Given the description of an element on the screen output the (x, y) to click on. 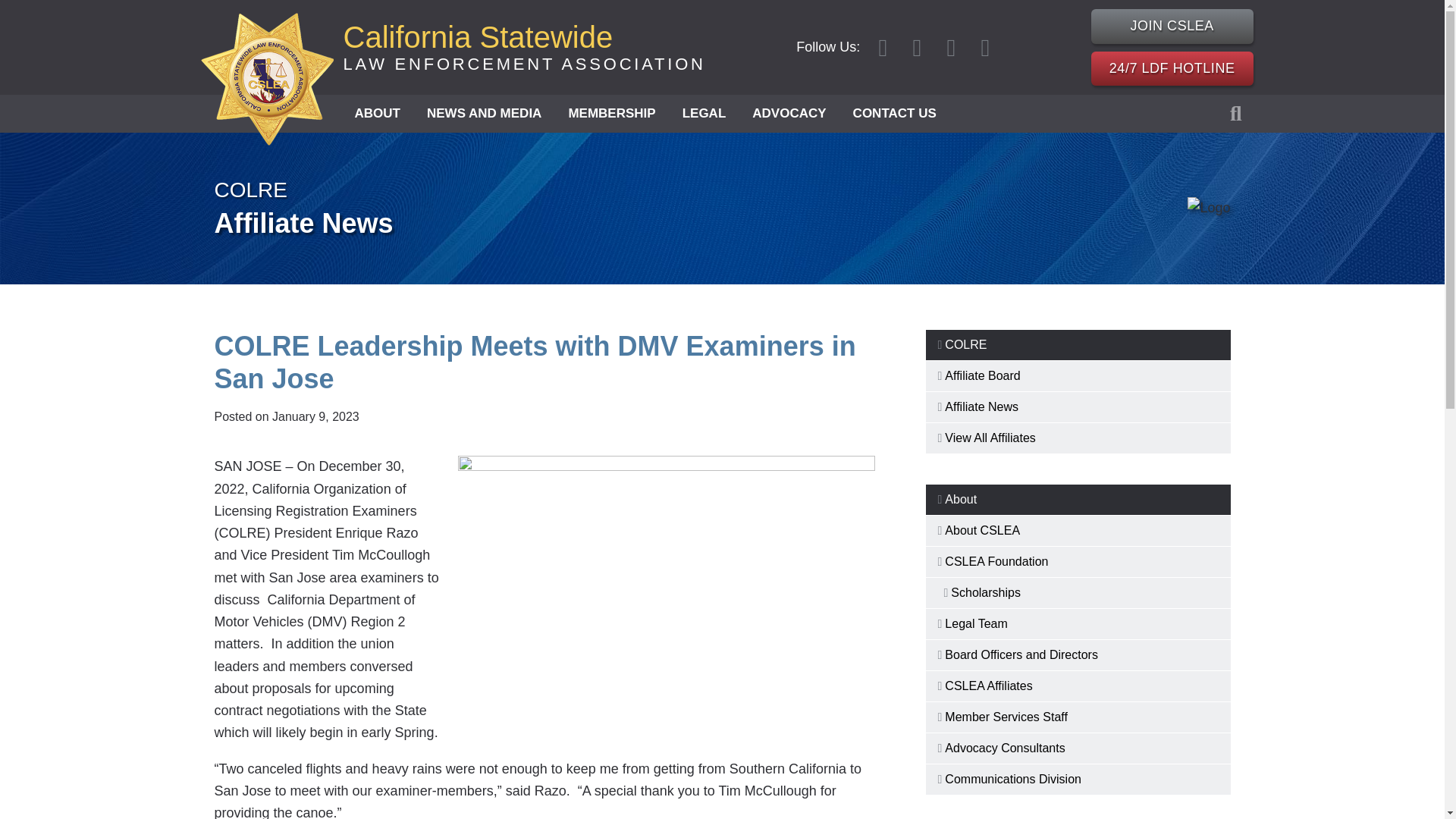
MEMBERSHIP (611, 113)
NEWS AND MEDIA (483, 113)
ABOUT (376, 113)
JOIN CSLEA (523, 47)
LEGAL (1171, 26)
